Given the description of an element on the screen output the (x, y) to click on. 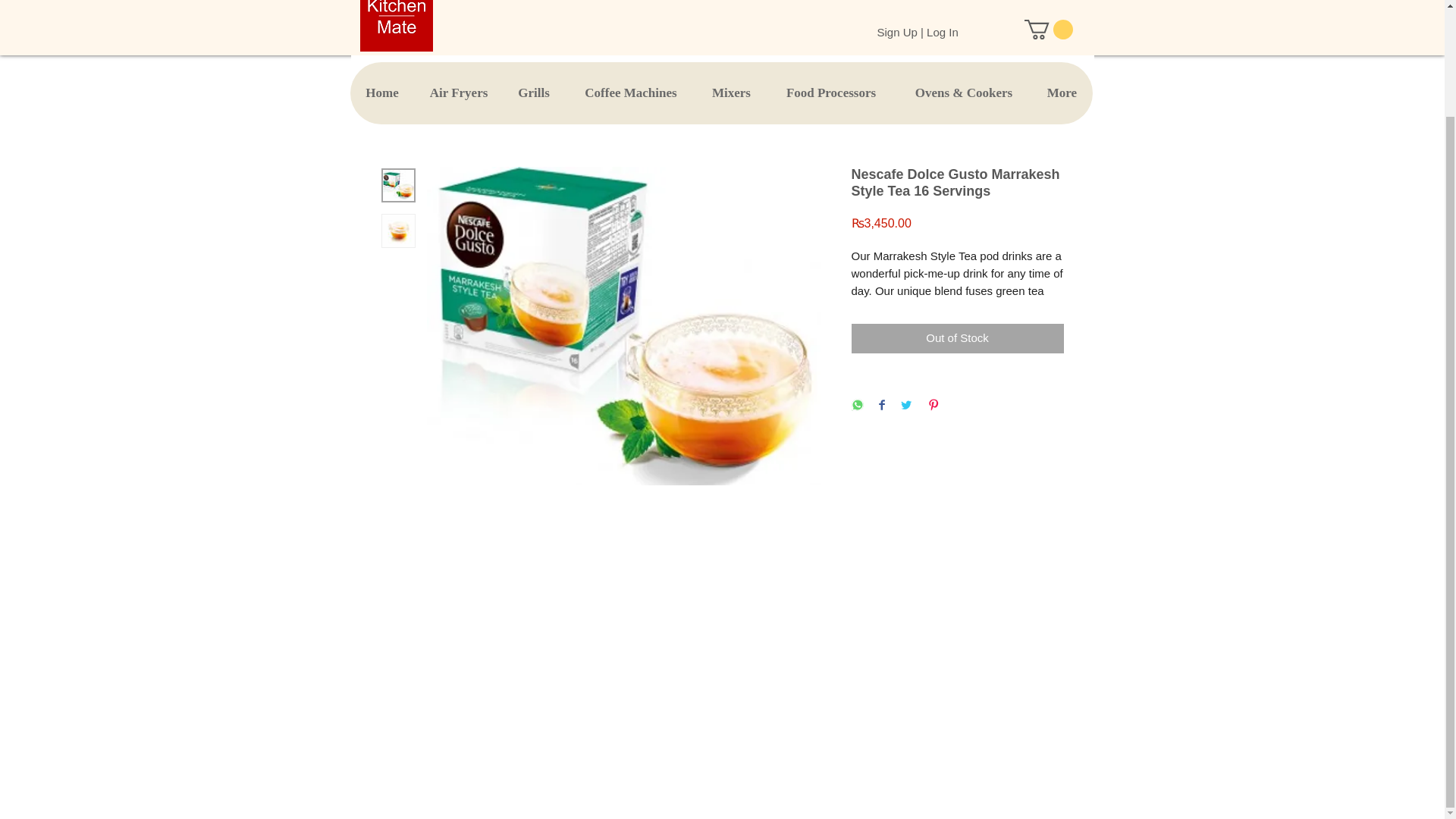
Out of Stock (956, 337)
Coffee Machines (629, 93)
Grills (533, 93)
Mixers (730, 93)
Air Fryers (457, 93)
Food Processors (830, 93)
Home (382, 93)
